Given the description of an element on the screen output the (x, y) to click on. 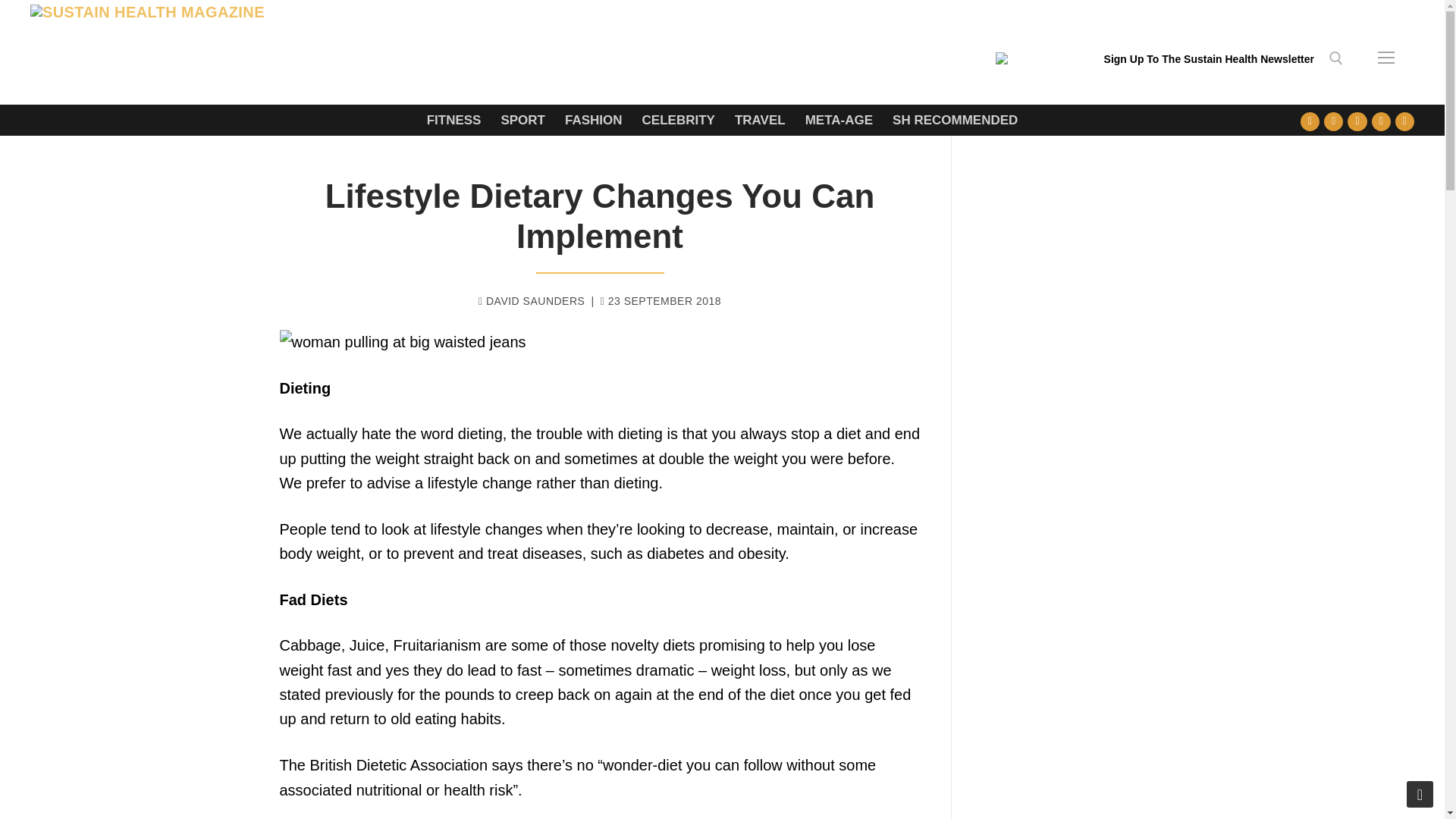
Twitter (1333, 121)
SH RECOMMENDED (954, 119)
Facebook (1310, 121)
TRAVEL (759, 119)
SPORT (522, 119)
Youtube (1357, 121)
CELEBRITY (678, 119)
FASHION (592, 119)
FITNESS (454, 119)
Pinterest (1404, 121)
